Given the description of an element on the screen output the (x, y) to click on. 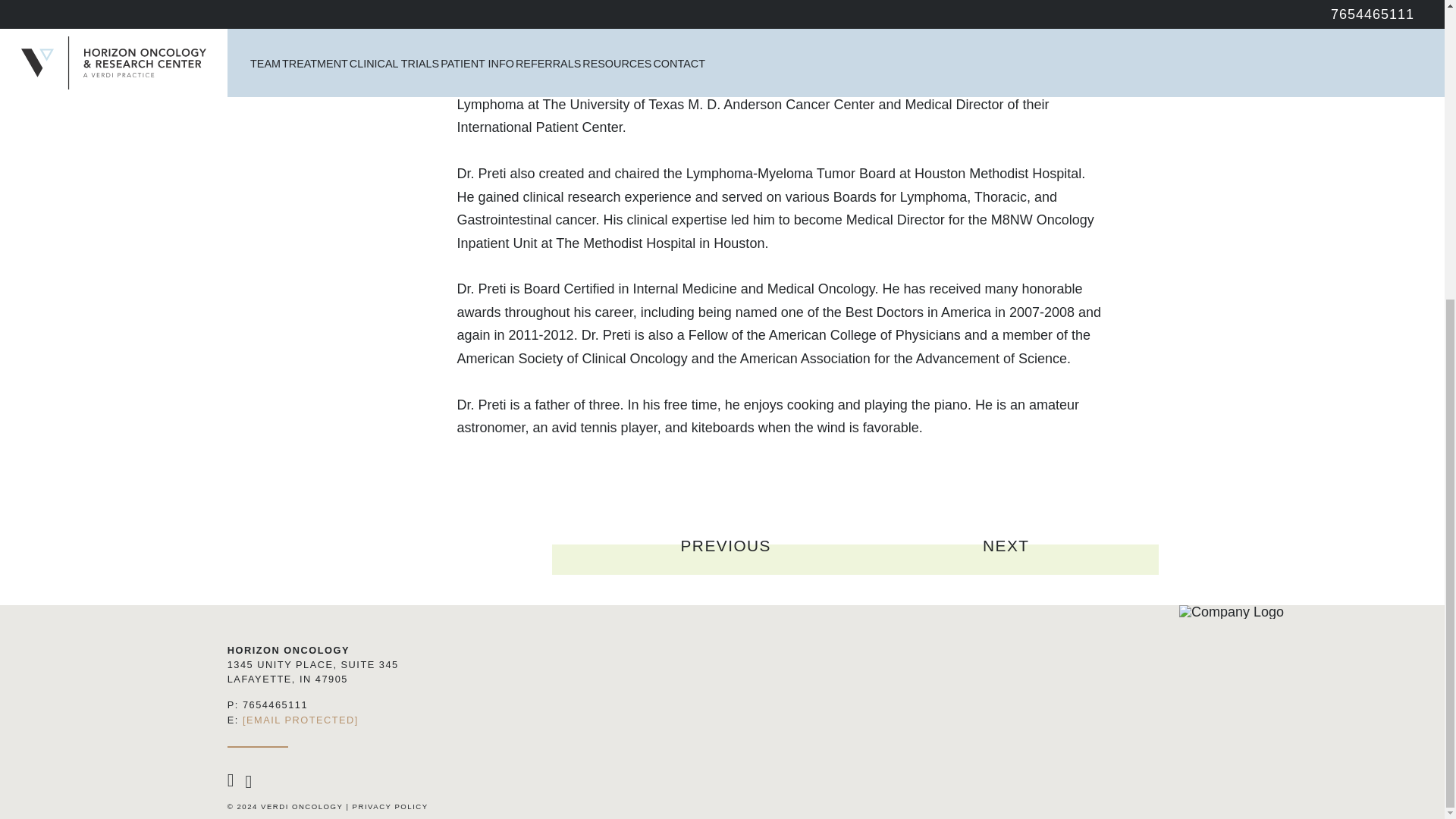
PRIVACY POLICY (390, 806)
PREVIOUS (726, 556)
NEXT (1005, 556)
7654465111 (275, 704)
